Given the description of an element on the screen output the (x, y) to click on. 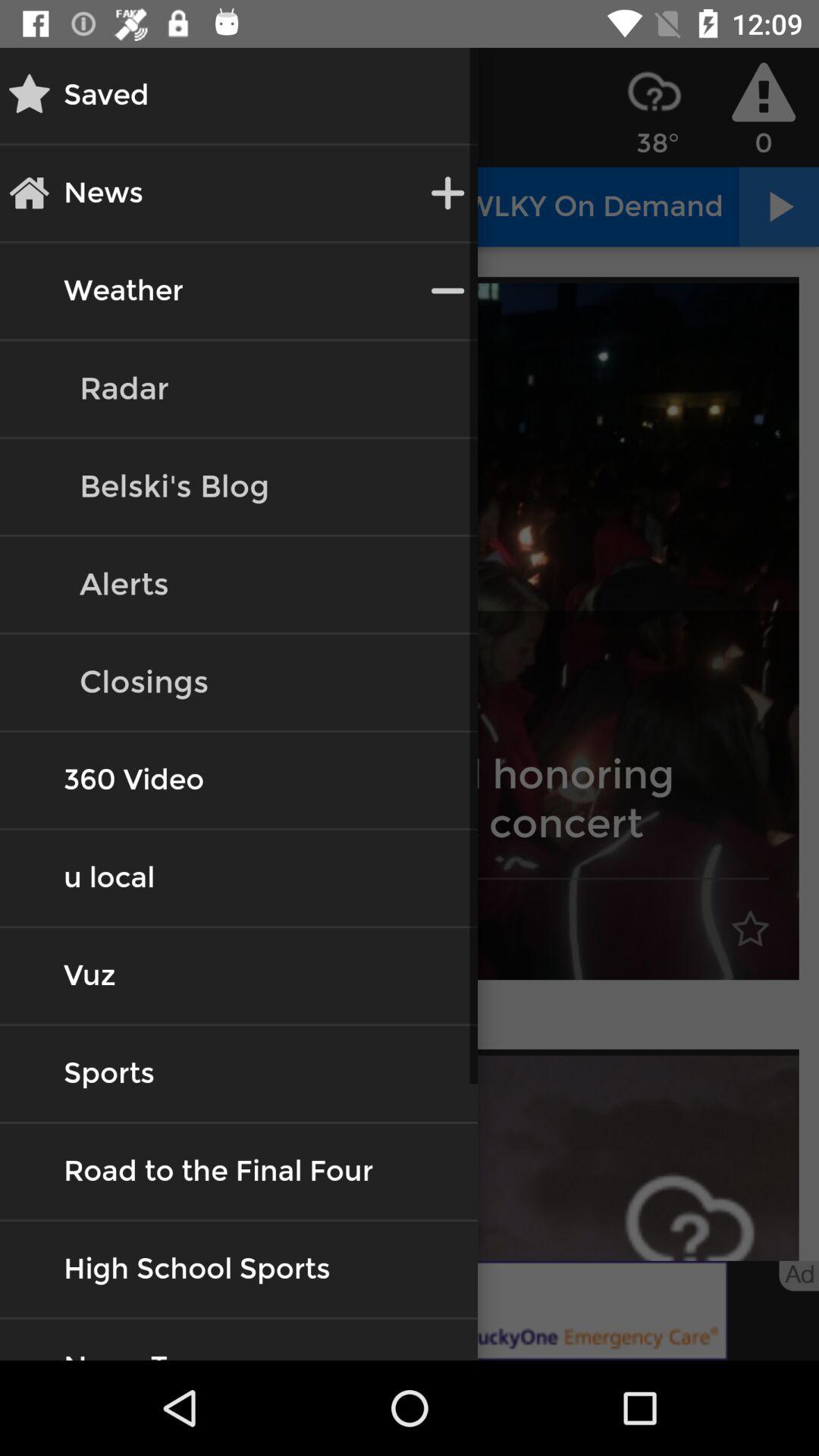
click the button weather on the web page (123, 291)
